Given the description of an element on the screen output the (x, y) to click on. 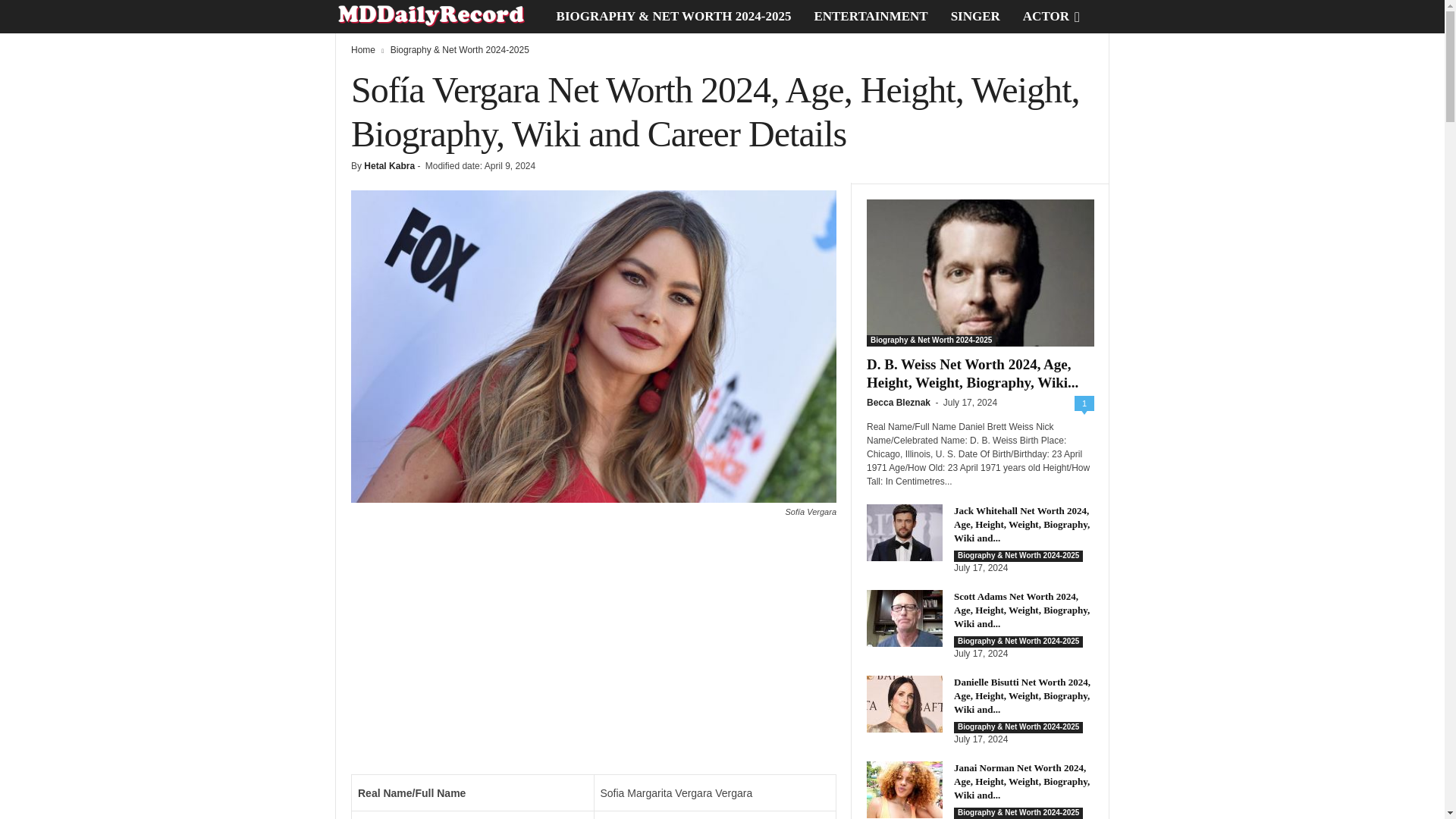
MD Daily Record (439, 16)
Home (362, 50)
ENTERTAINMENT (870, 16)
Hetal Kabra (389, 165)
SINGER (975, 16)
Advertisement (592, 653)
ACTOR (1045, 16)
